Given the description of an element on the screen output the (x, y) to click on. 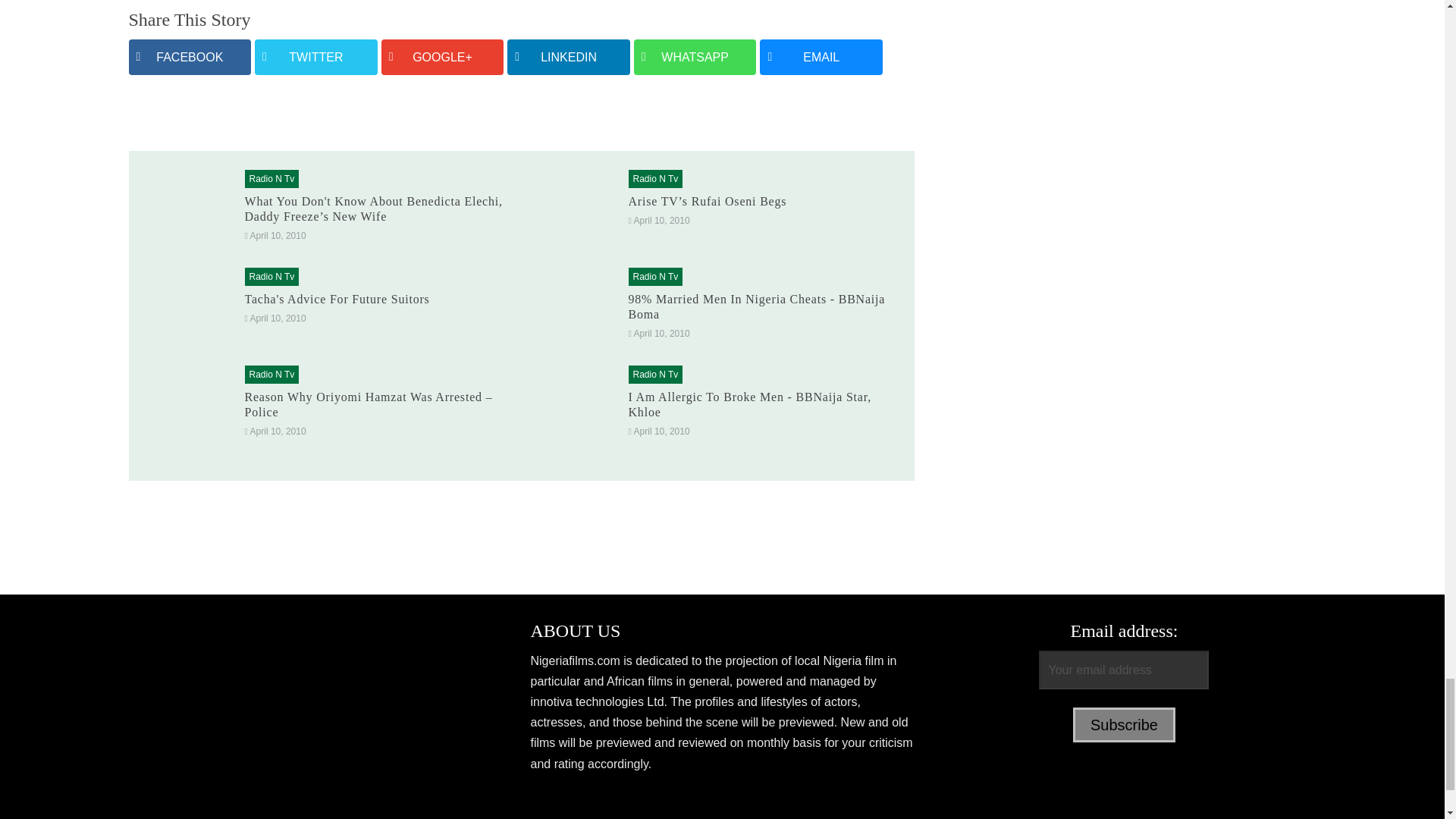
googleplus (442, 57)
whatsapp (695, 57)
facebook (190, 57)
linkedin (568, 57)
twitter (315, 57)
Subscribe (1123, 724)
TWITTER (315, 57)
FACEBOOK (190, 57)
